Given the description of an element on the screen output the (x, y) to click on. 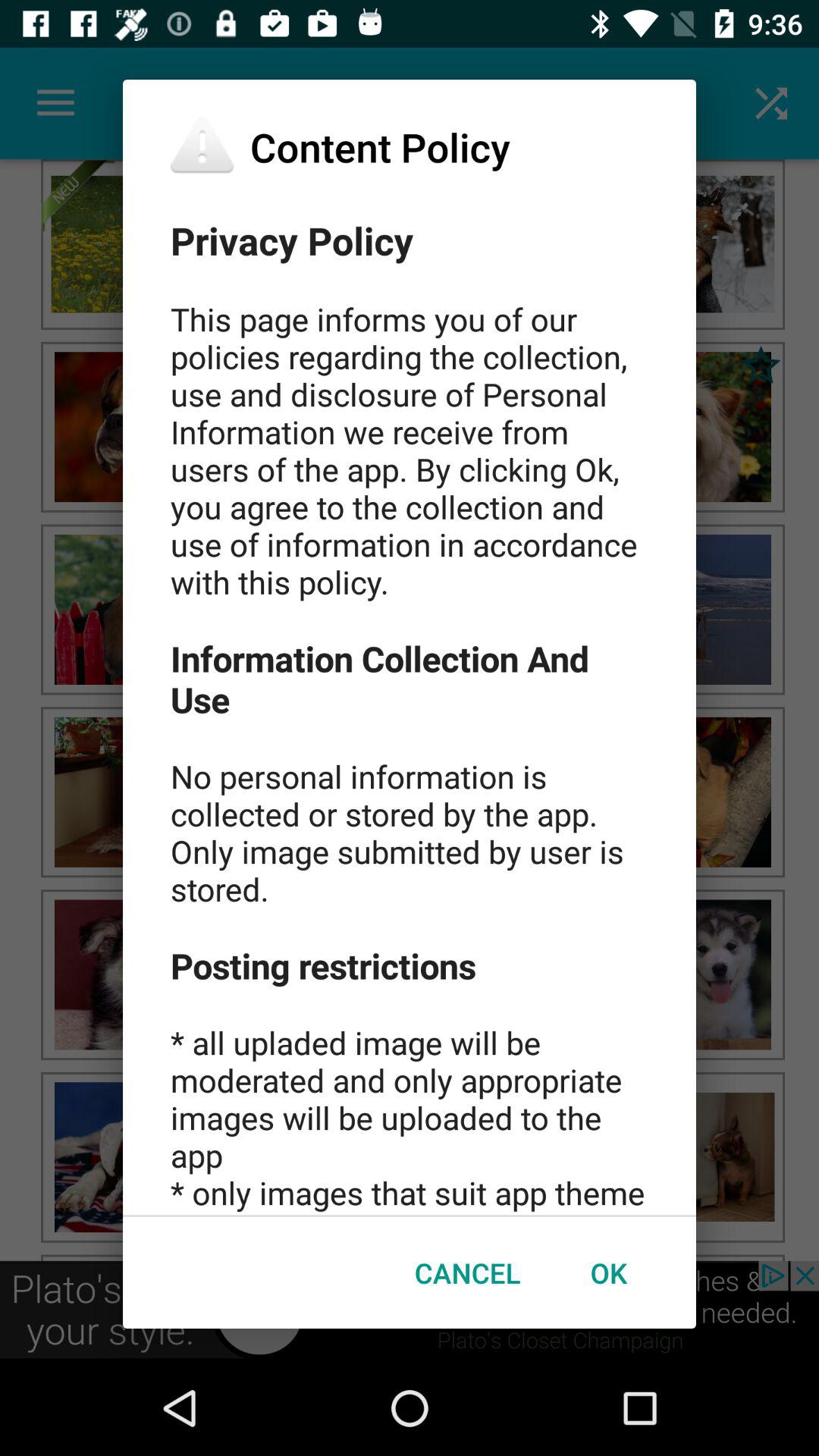
turn off icon at the bottom (467, 1272)
